Given the description of an element on the screen output the (x, y) to click on. 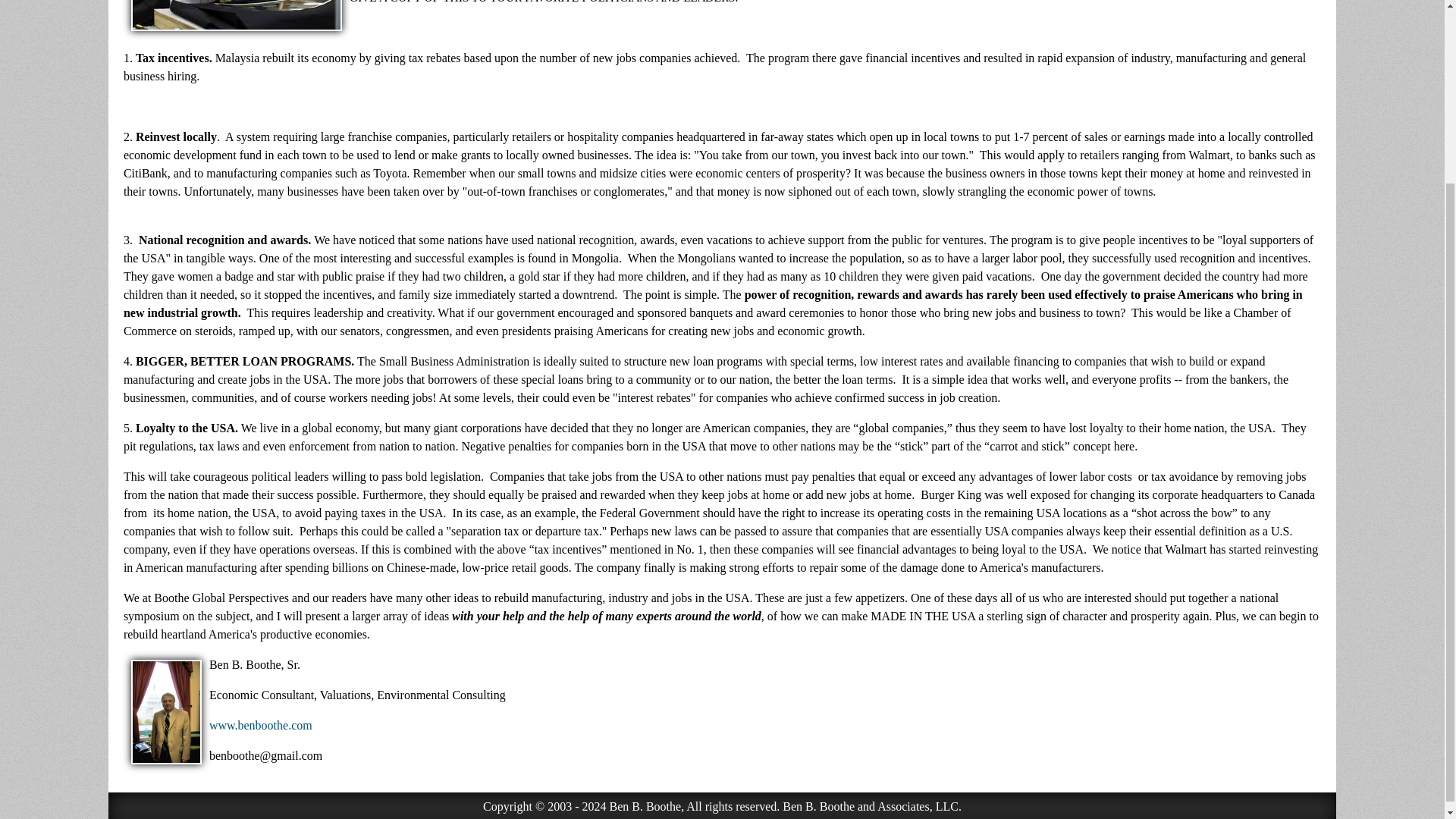
www.benboothe.com (261, 725)
